Given the description of an element on the screen output the (x, y) to click on. 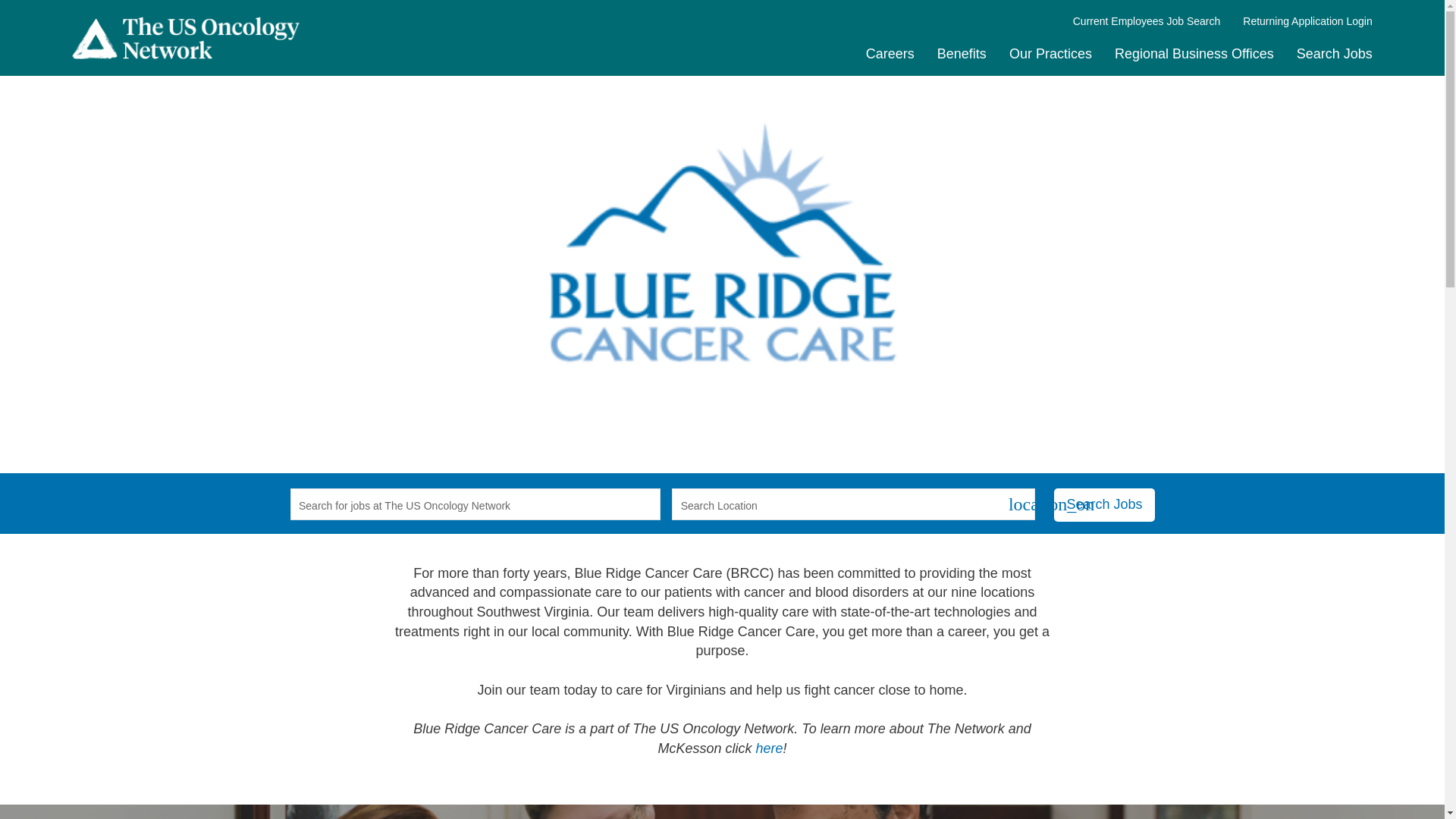
Current Employees Job Search (1147, 21)
Benefits (962, 53)
Returning Application Login (1307, 21)
Our Practices (1050, 53)
Careers (890, 53)
